Given the description of an element on the screen output the (x, y) to click on. 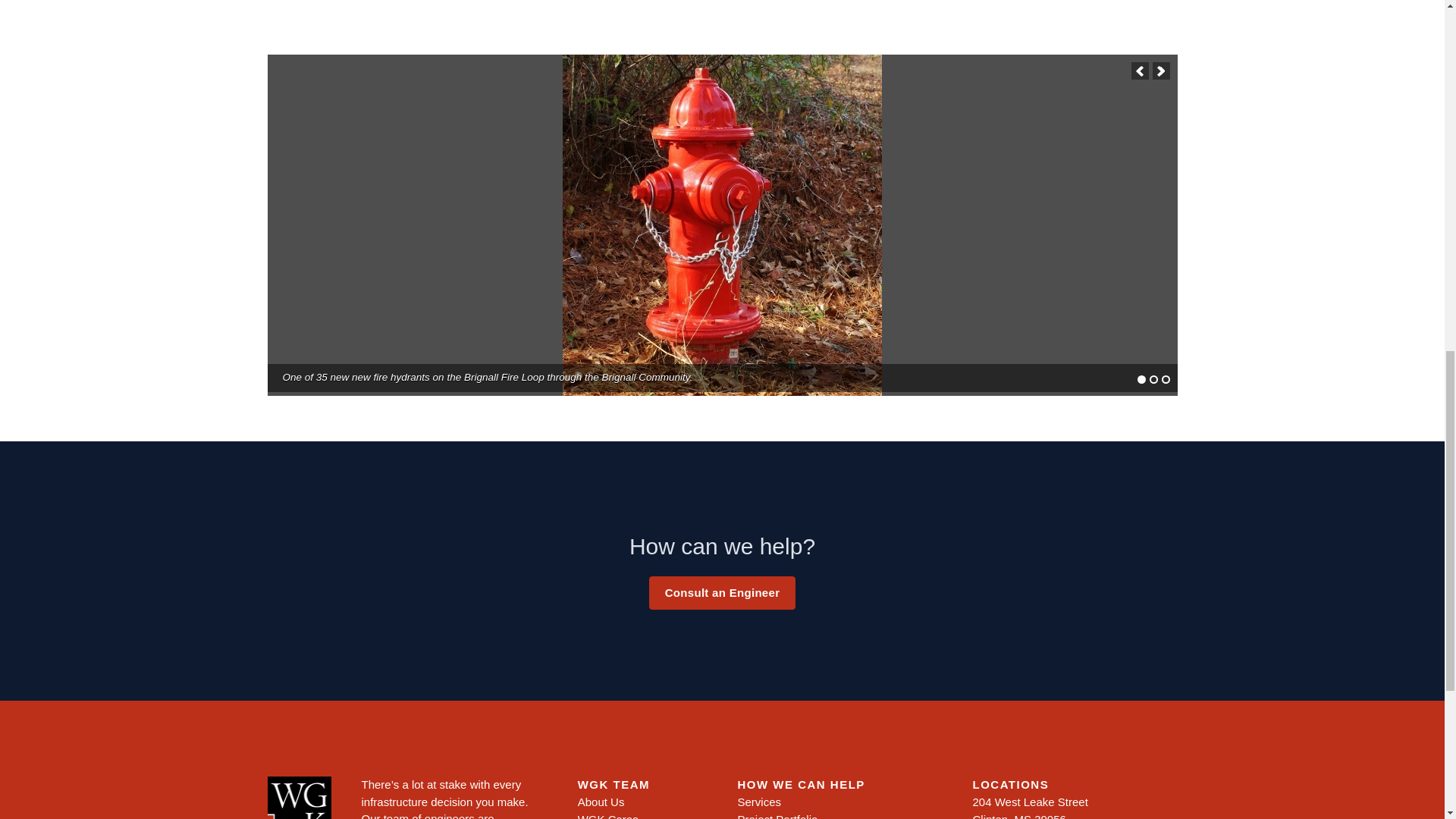
3 (1165, 379)
1 (1141, 379)
About Us (601, 801)
2 (1153, 379)
Consult an Engineer (722, 593)
Project Portfolio (776, 816)
WGK Cares (608, 816)
Services (758, 801)
